Given the description of an element on the screen output the (x, y) to click on. 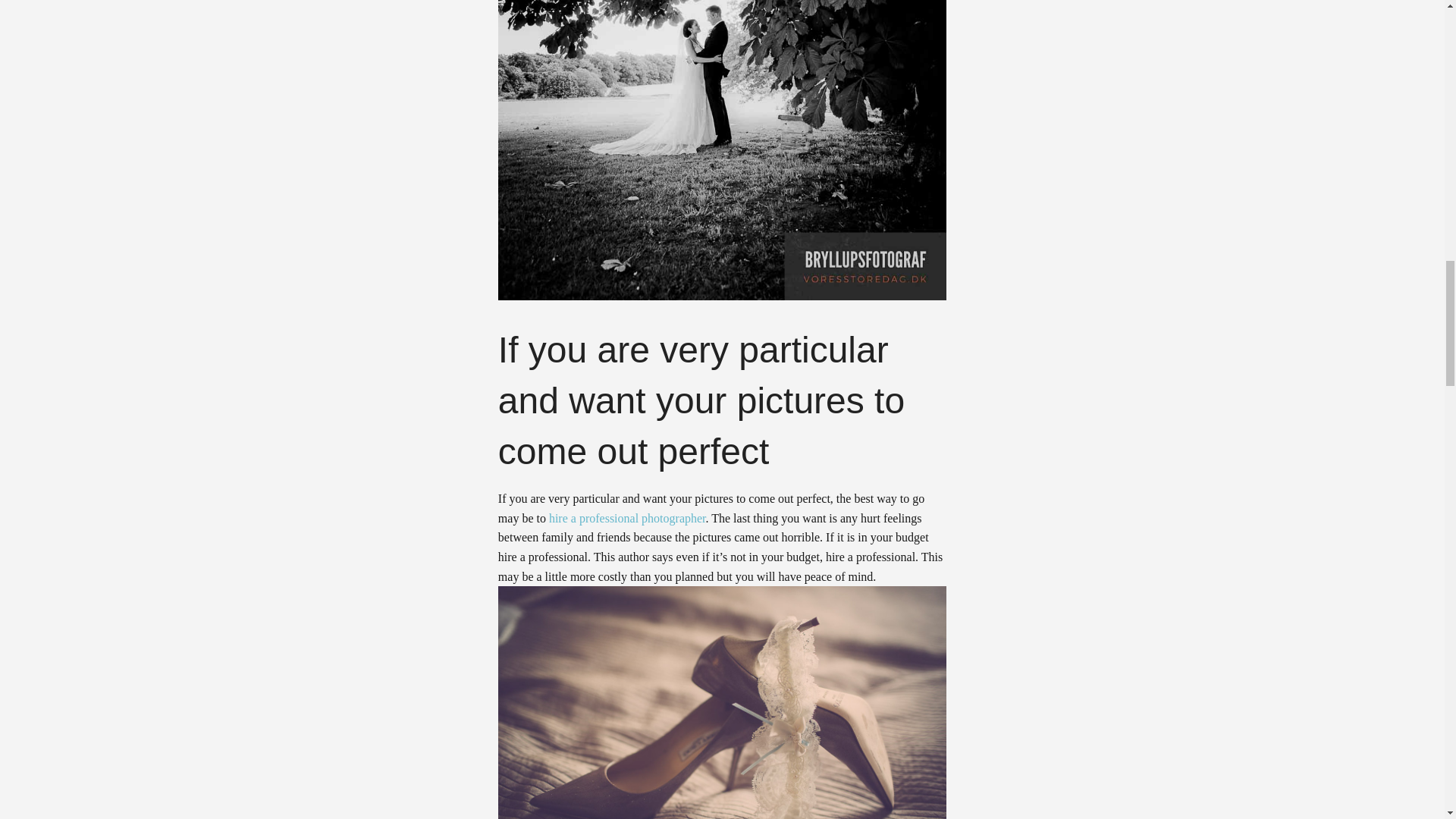
hire a professional photographer (627, 517)
